Given the description of an element on the screen output the (x, y) to click on. 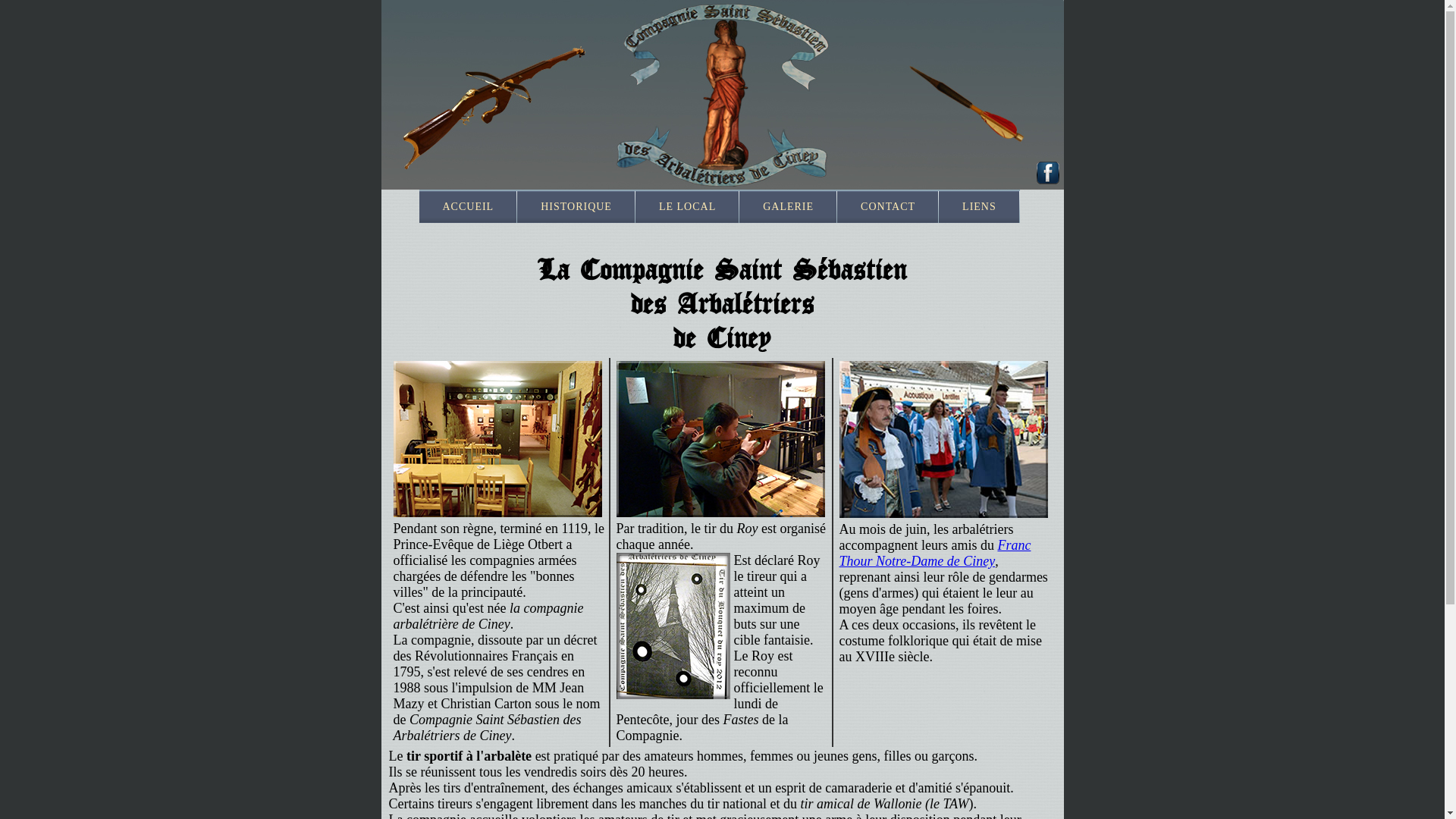
Franc Thour Notre-Dame de Ciney Element type: text (934, 552)
ACCUEIL Element type: text (467, 206)
CONTACT Element type: text (887, 206)
Notre page Facebook Element type: hover (1047, 174)
LIENS Element type: text (978, 206)
GALERIE Element type: text (788, 206)
HISTORIQUE Element type: text (576, 206)
LE LOCAL Element type: text (687, 206)
